Given the description of an element on the screen output the (x, y) to click on. 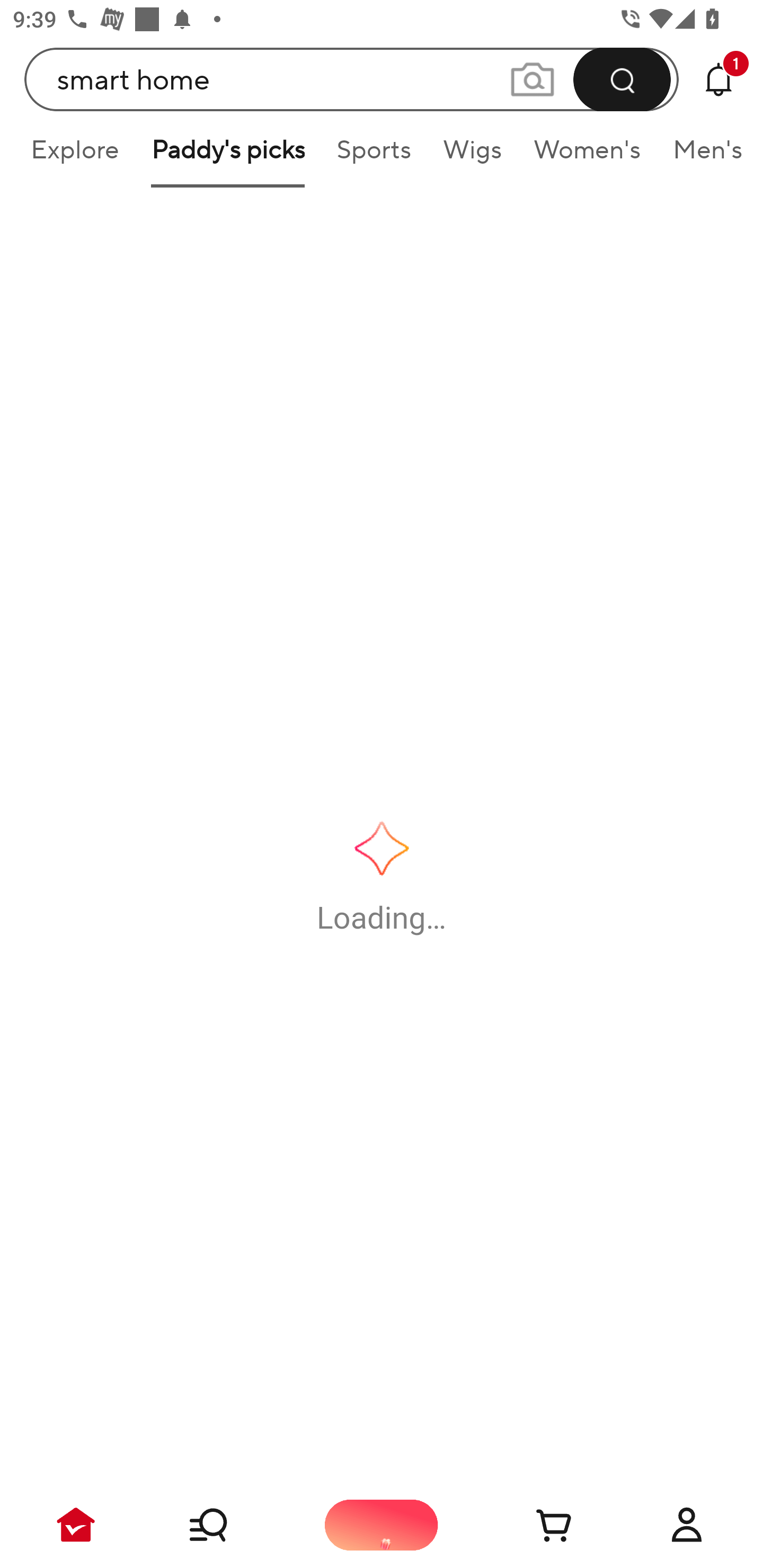
smart home (351, 79)
Explore (74, 155)
Sports (373, 155)
Wigs (472, 155)
Women's (586, 155)
Men's (701, 155)
Shop (228, 1524)
Cart (533, 1524)
Account (686, 1524)
